Given the description of an element on the screen output the (x, y) to click on. 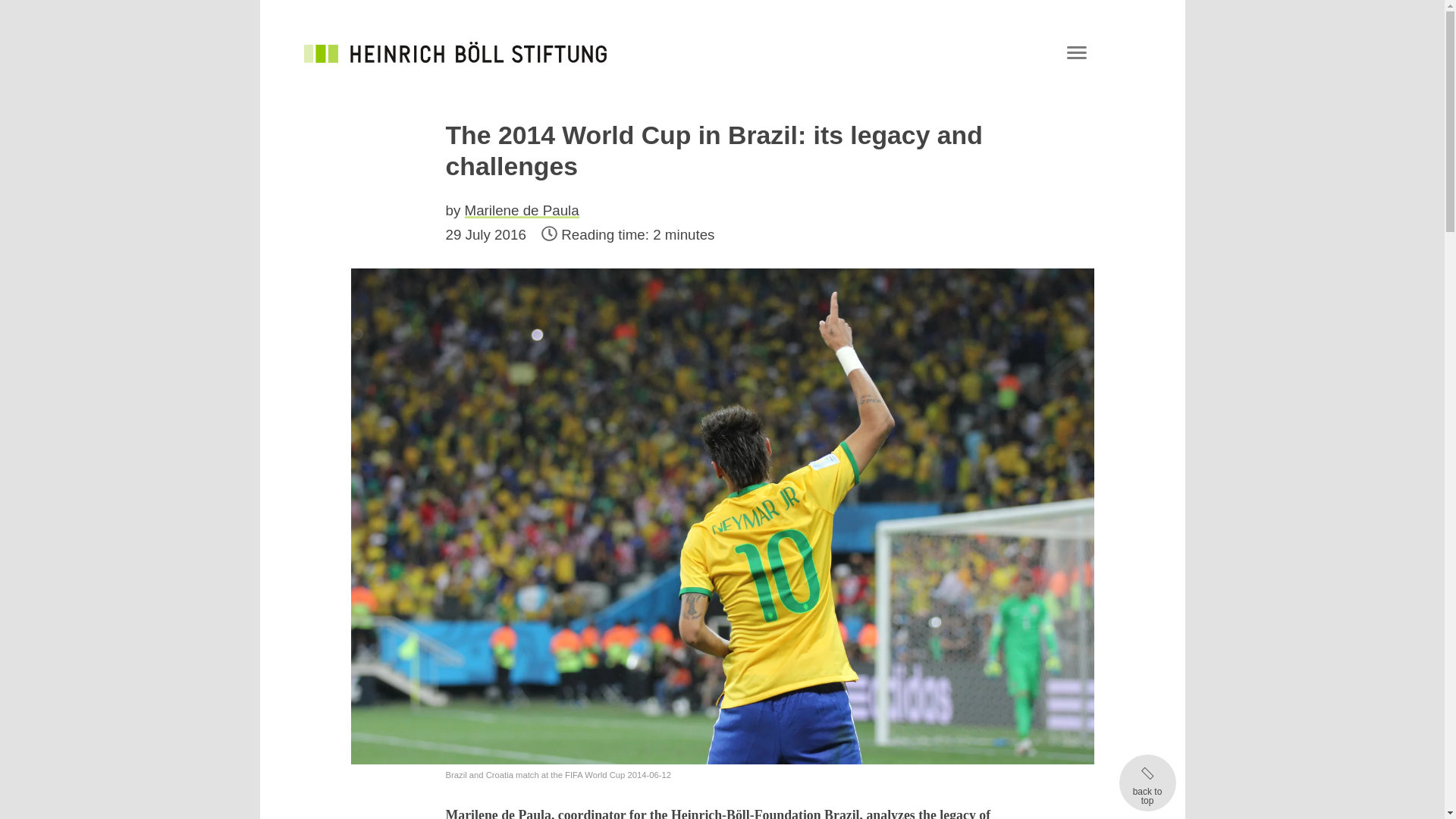
Marilene de Paula (521, 210)
Home (454, 51)
